Given the description of an element on the screen output the (x, y) to click on. 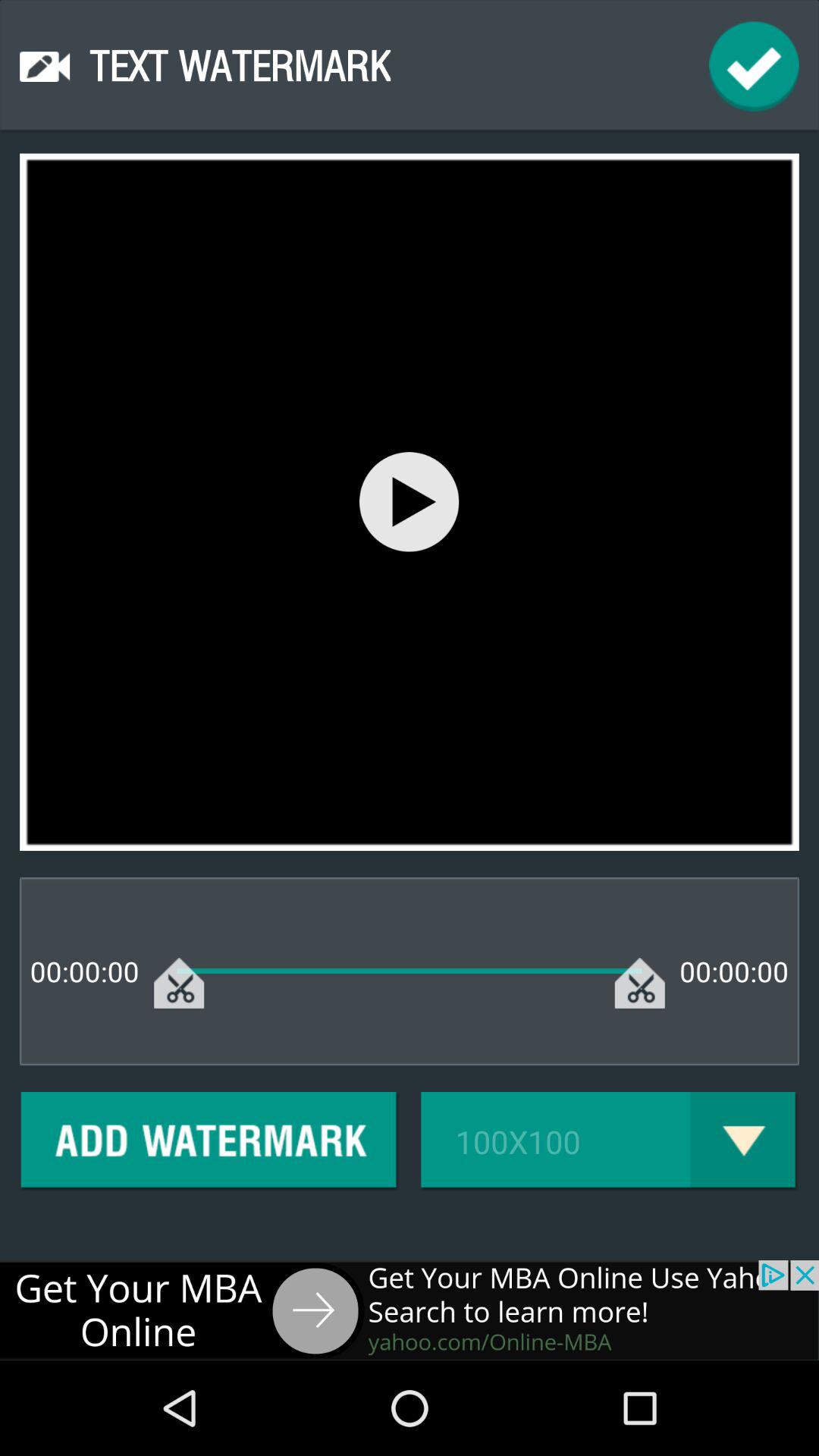
play video (408, 501)
